Given the description of an element on the screen output the (x, y) to click on. 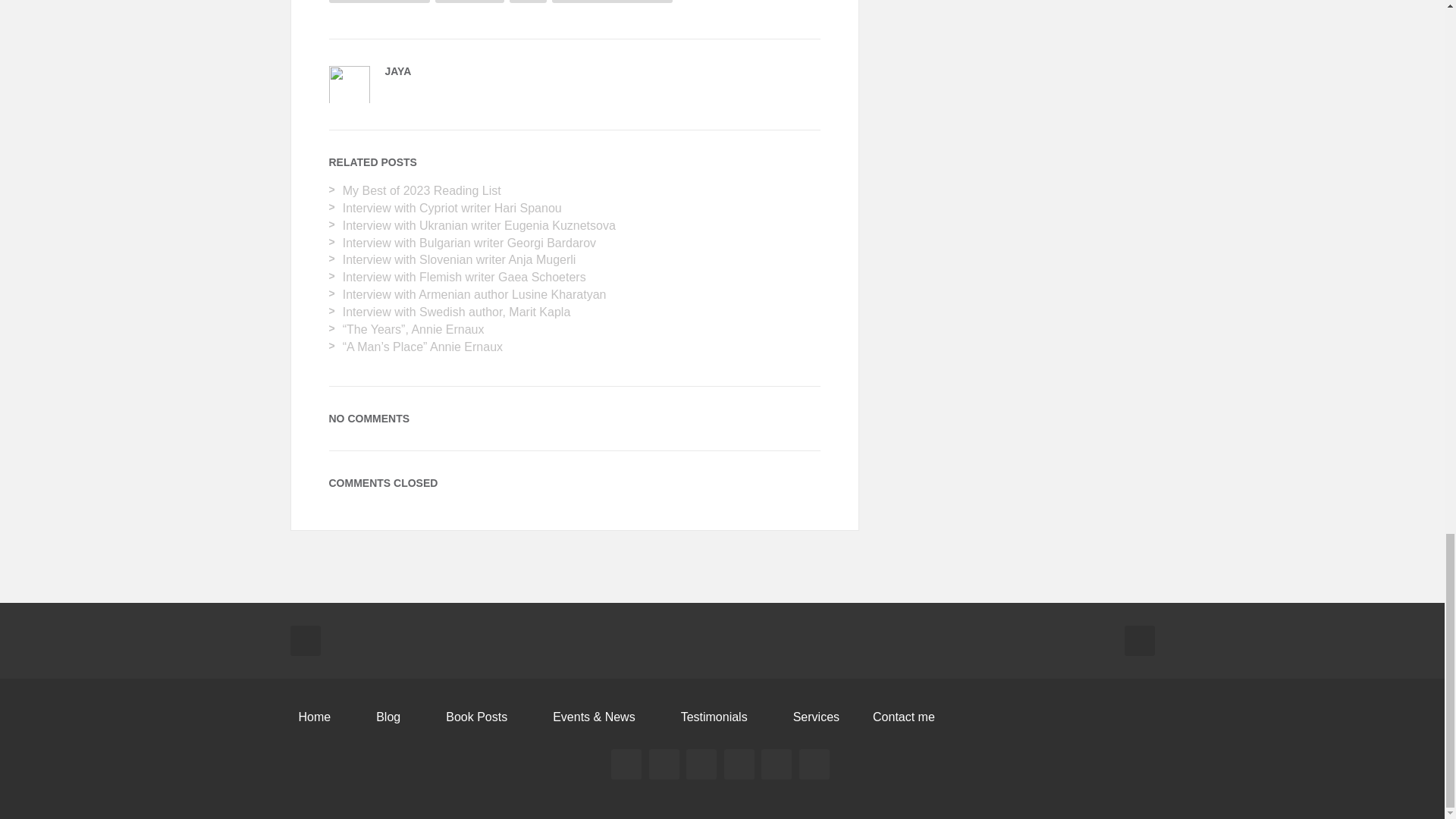
My Best of 2023 Reading List (421, 190)
Time (528, 1)
Interview with Bulgarian writer Georgi Bardarov (468, 242)
Unfinished Business (611, 1)
Interview with Cypriot writer Hari Spanou (452, 207)
JAYA (398, 70)
Sheryl Sandberg (379, 1)
stolen time (469, 1)
Interview with Slovenian writer Anja Mugerli (459, 259)
Interview with Ukranian writer Eugenia Kuznetsova (478, 225)
